Given the description of an element on the screen output the (x, y) to click on. 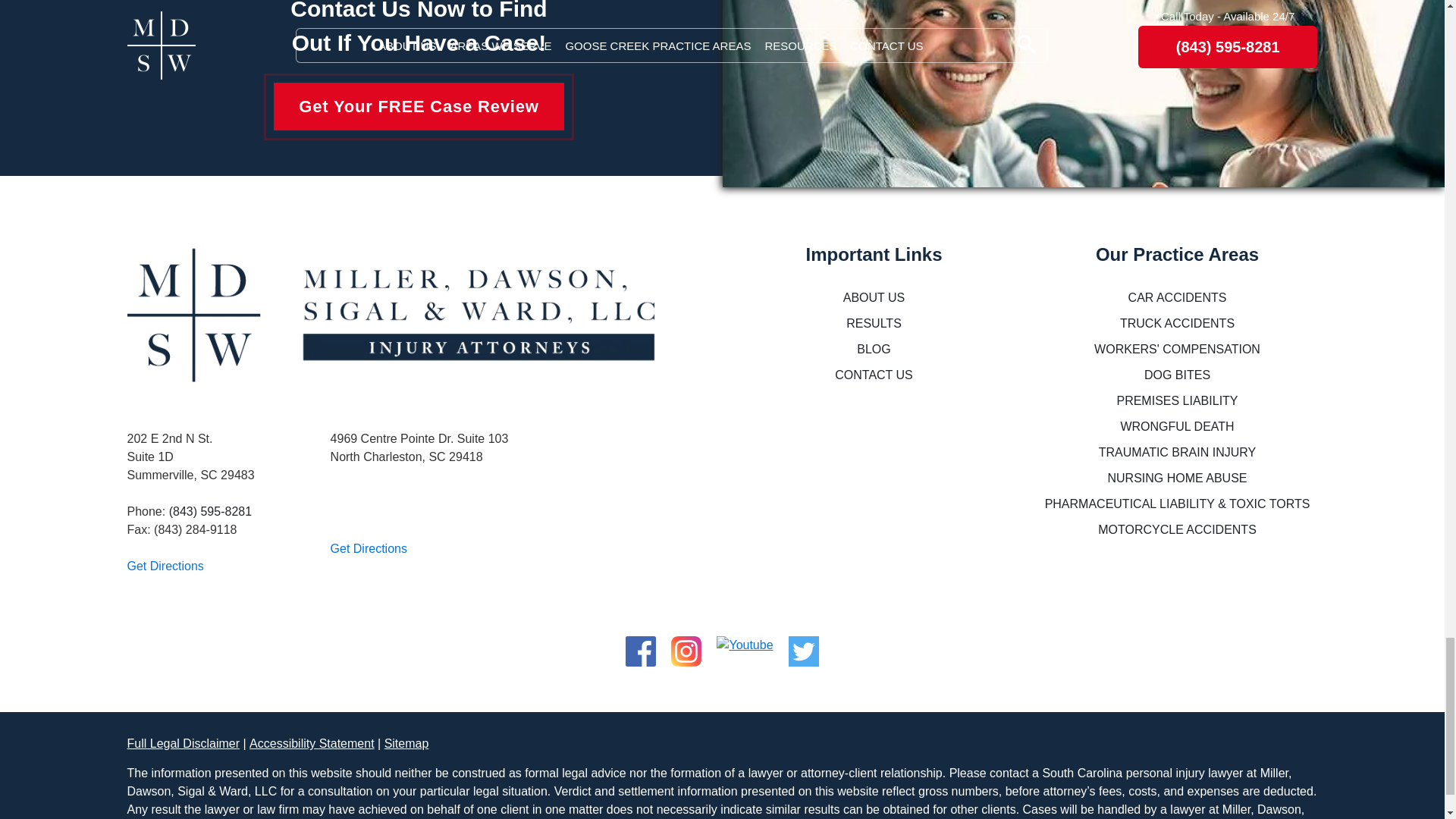
phone (209, 511)
Youtube (744, 644)
Twitter (803, 644)
Facebook (641, 644)
Instagram (686, 644)
